Given the description of an element on the screen output the (x, y) to click on. 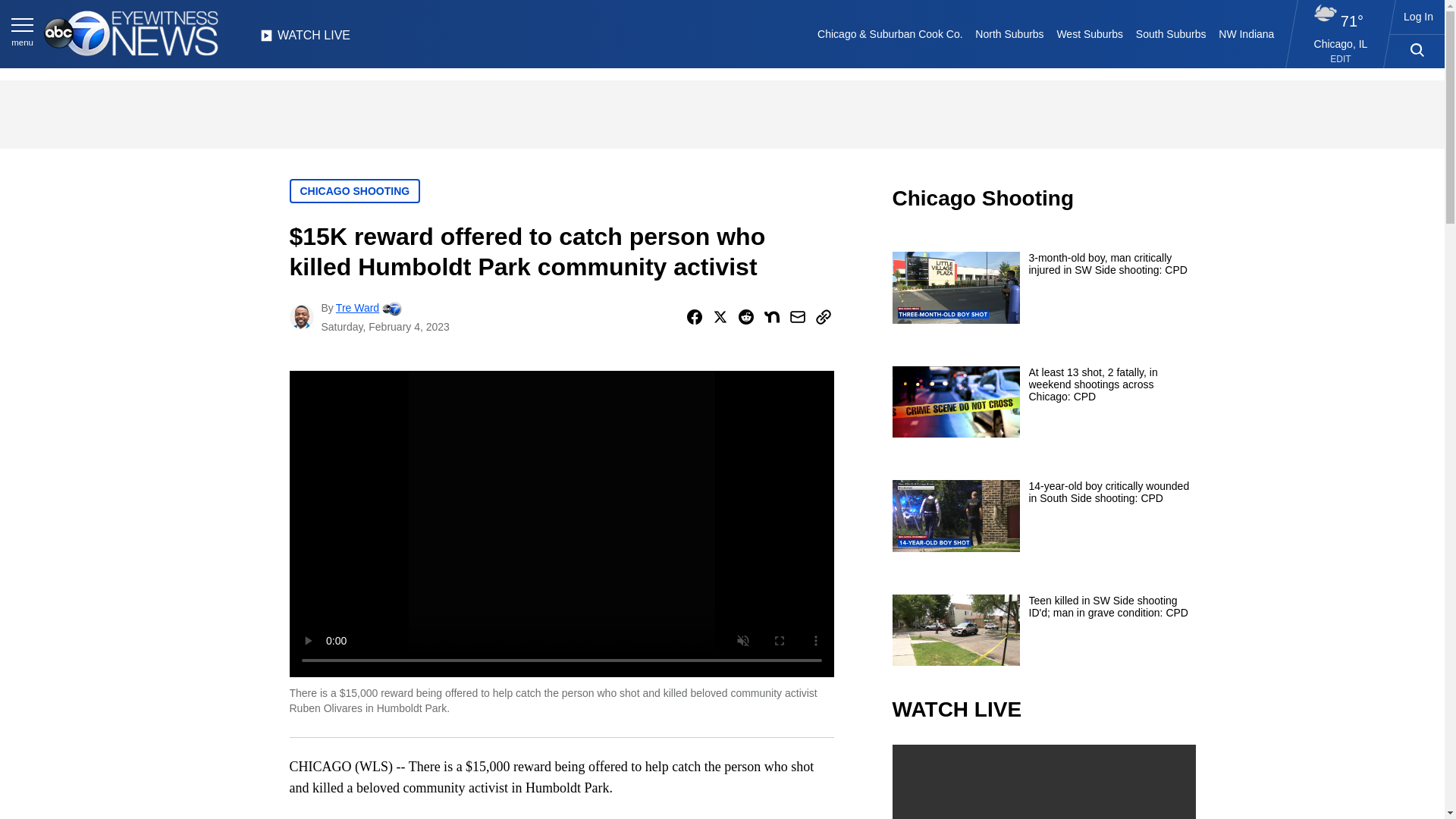
South Suburbs (1170, 33)
EDIT (1340, 59)
NW Indiana (1246, 33)
video.title (1043, 781)
West Suburbs (1089, 33)
North Suburbs (1009, 33)
Chicago, IL (1340, 43)
WATCH LIVE (305, 39)
